Given the description of an element on the screen output the (x, y) to click on. 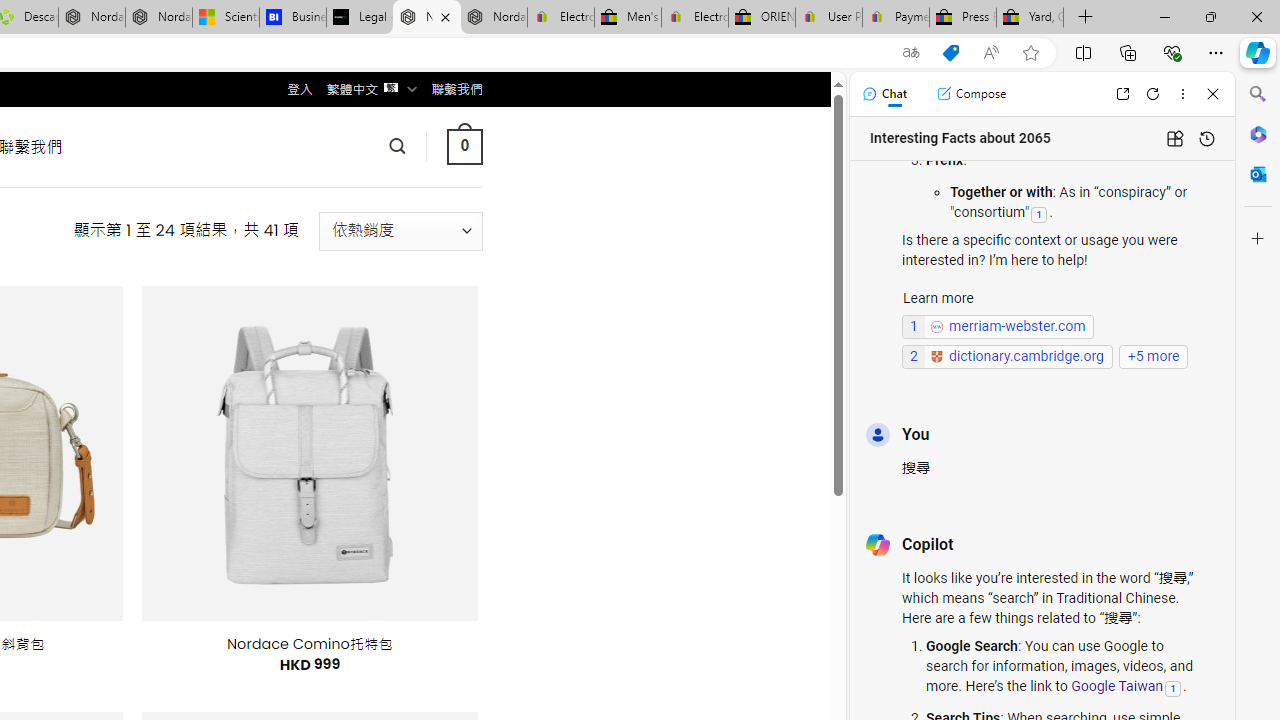
 0  (464, 146)
Nordace - Summer Adventures 2024 (91, 17)
